Given the description of an element on the screen output the (x, y) to click on. 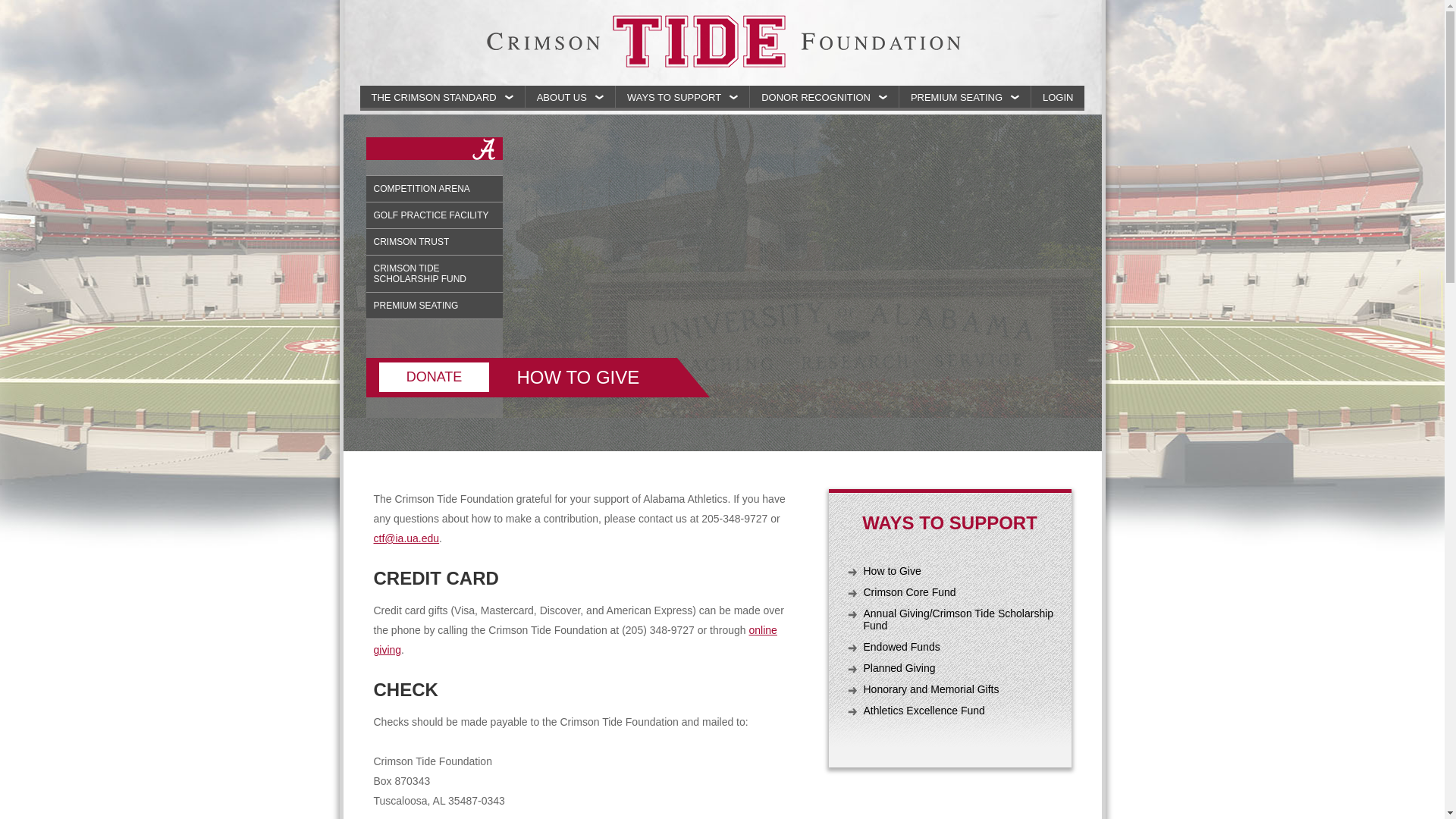
WAYS TO SUPPORT (682, 96)
Crimson Tide Foundation (721, 42)
PREMIUM SEATING (964, 96)
THE CRIMSON STANDARD (442, 96)
ABOUT US (570, 96)
LOGIN (1057, 96)
DONOR RECOGNITION (824, 96)
